Given the description of an element on the screen output the (x, y) to click on. 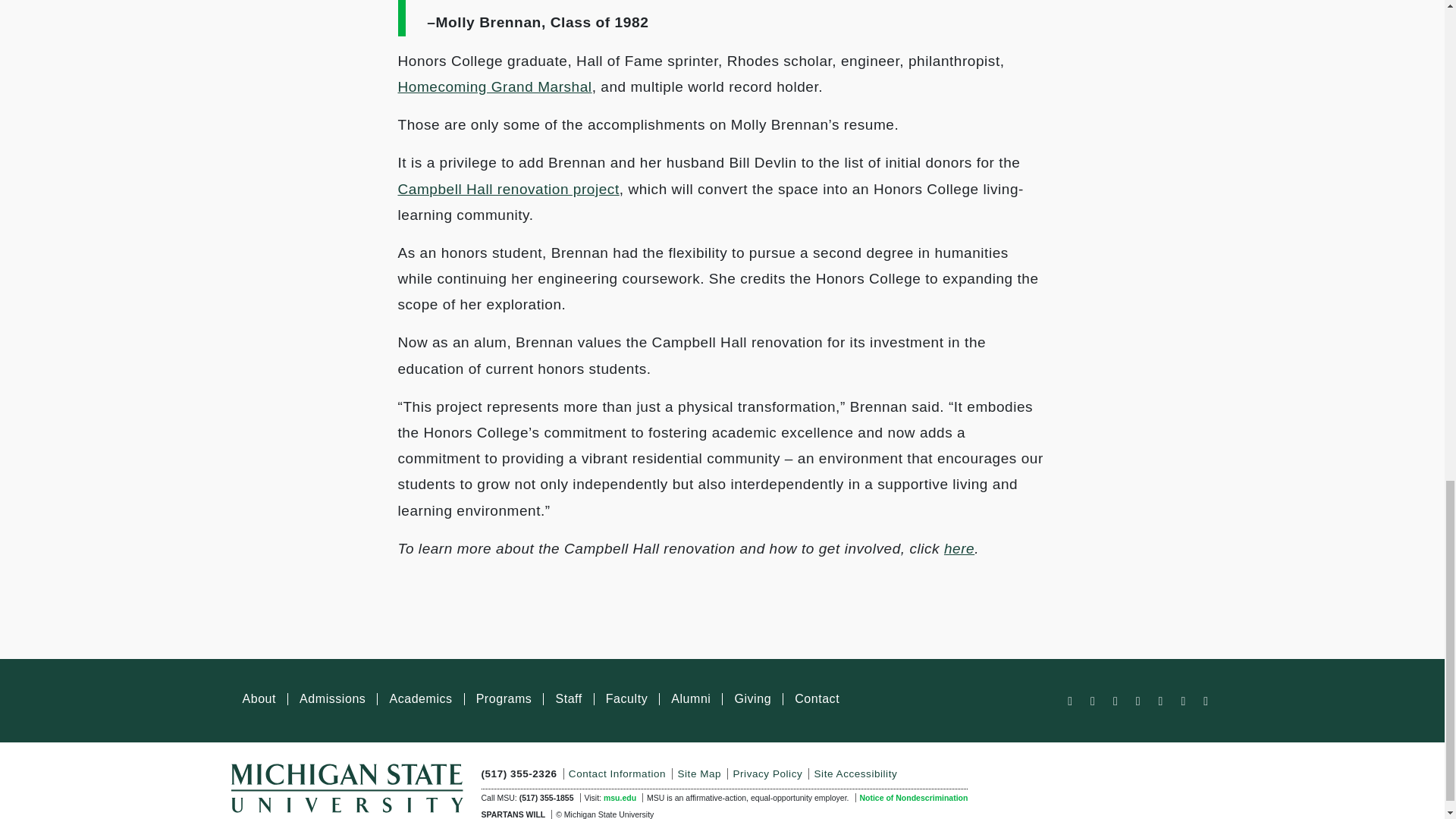
Facebook (1069, 700)
Instagram (1138, 700)
Twitter (1092, 700)
LinkedIn (1161, 700)
Flickr (1183, 700)
Michigan State University Home (346, 785)
YouTube (1115, 700)
LinkTree (1205, 700)
